Given the description of an element on the screen output the (x, y) to click on. 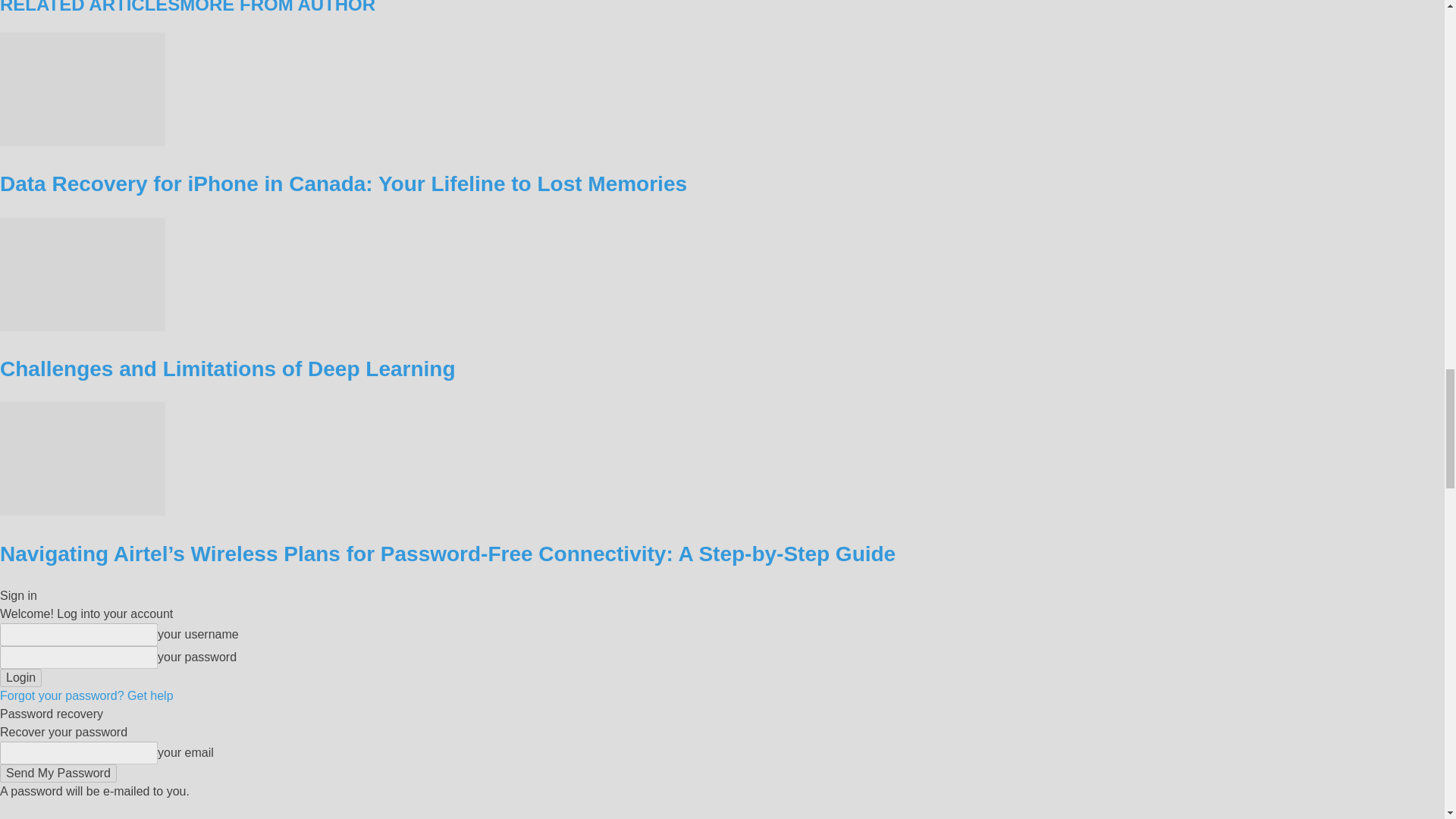
Login (21, 678)
Send My Password (58, 773)
